Given the description of an element on the screen output the (x, y) to click on. 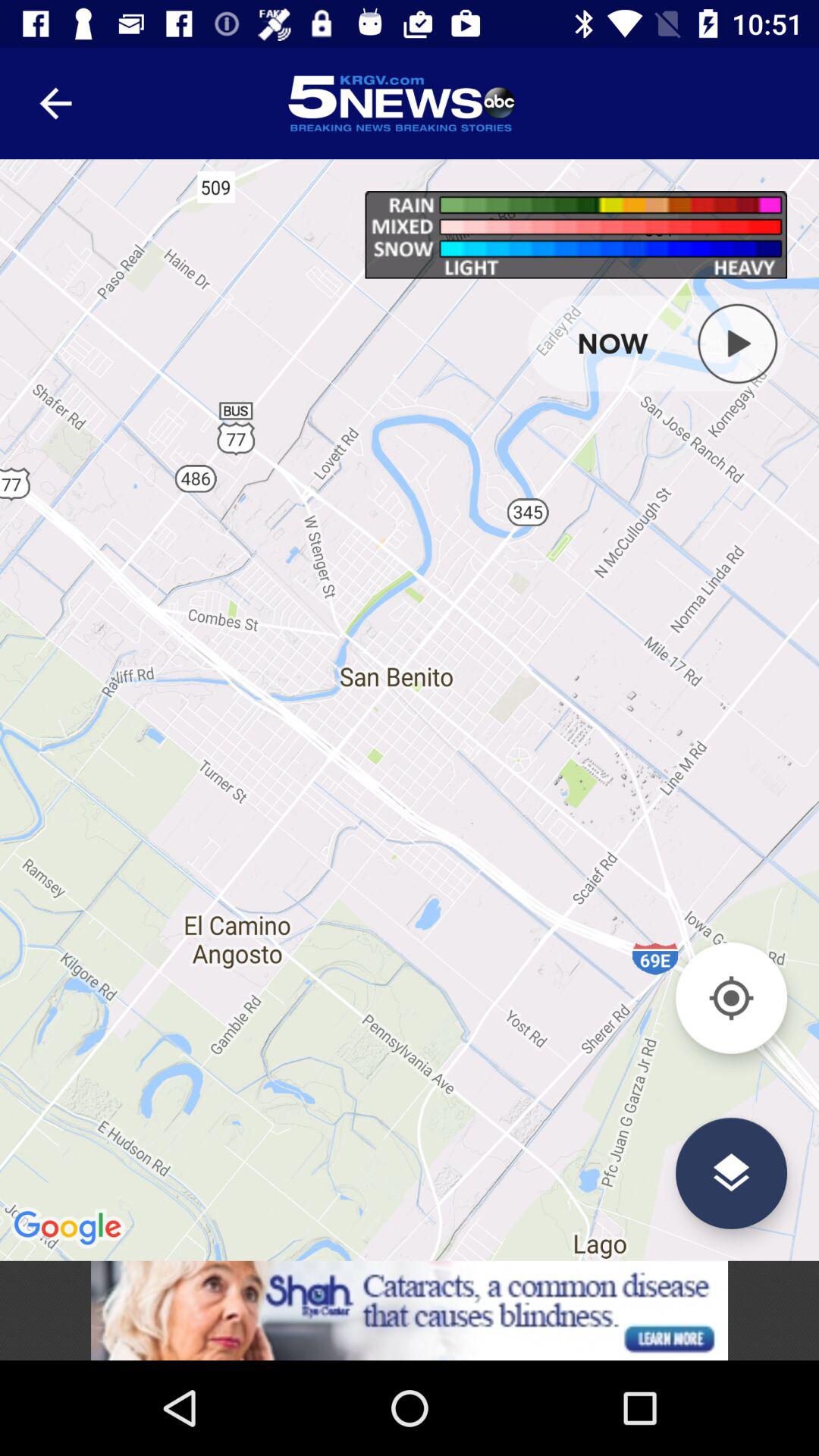
advertising (409, 1310)
